Given the description of an element on the screen output the (x, y) to click on. 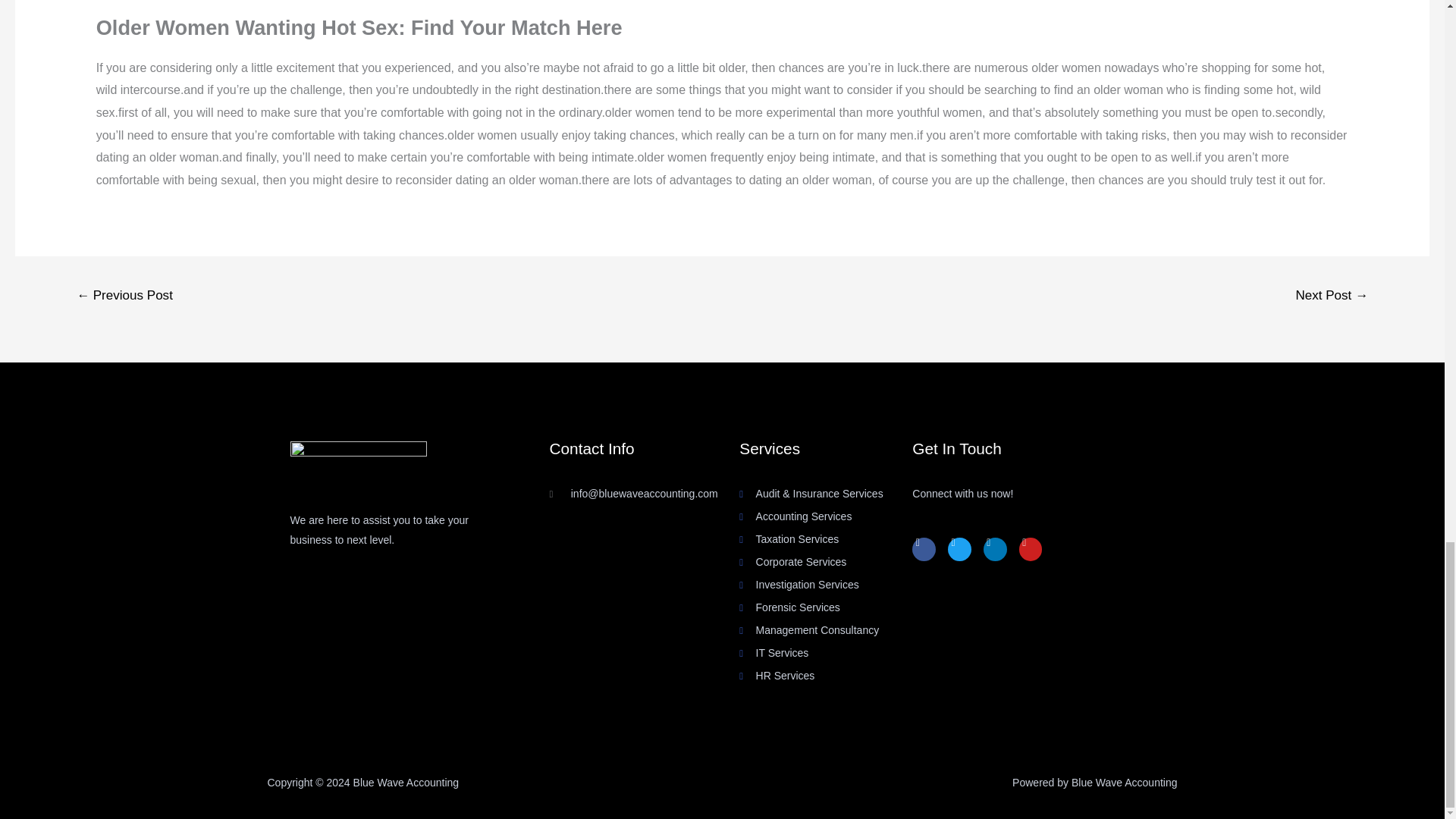
IT Services (825, 653)
Corporate Services (825, 562)
HR Services (825, 676)
Forensic Services (825, 608)
Management Consultancy (825, 630)
Accounting Services (825, 516)
Taxation Services (825, 539)
Investigation Services (825, 585)
